Given the description of an element on the screen output the (x, y) to click on. 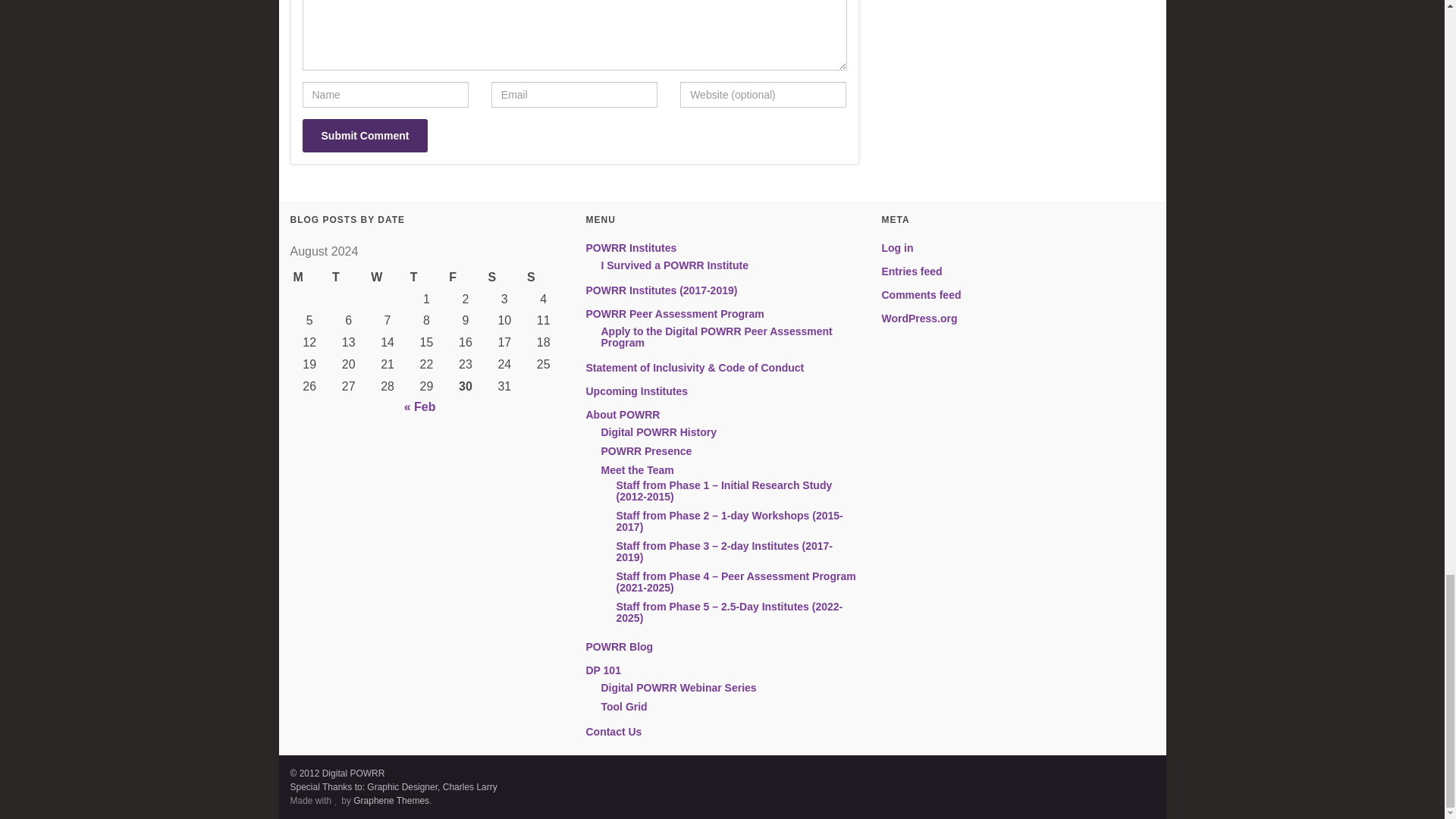
Submit Comment (364, 135)
Wednesday (387, 277)
Monday (309, 277)
Thursday (426, 277)
Sunday (543, 277)
Tuesday (348, 277)
Friday (464, 277)
Saturday (504, 277)
Submit Comment (364, 135)
